Given the description of an element on the screen output the (x, y) to click on. 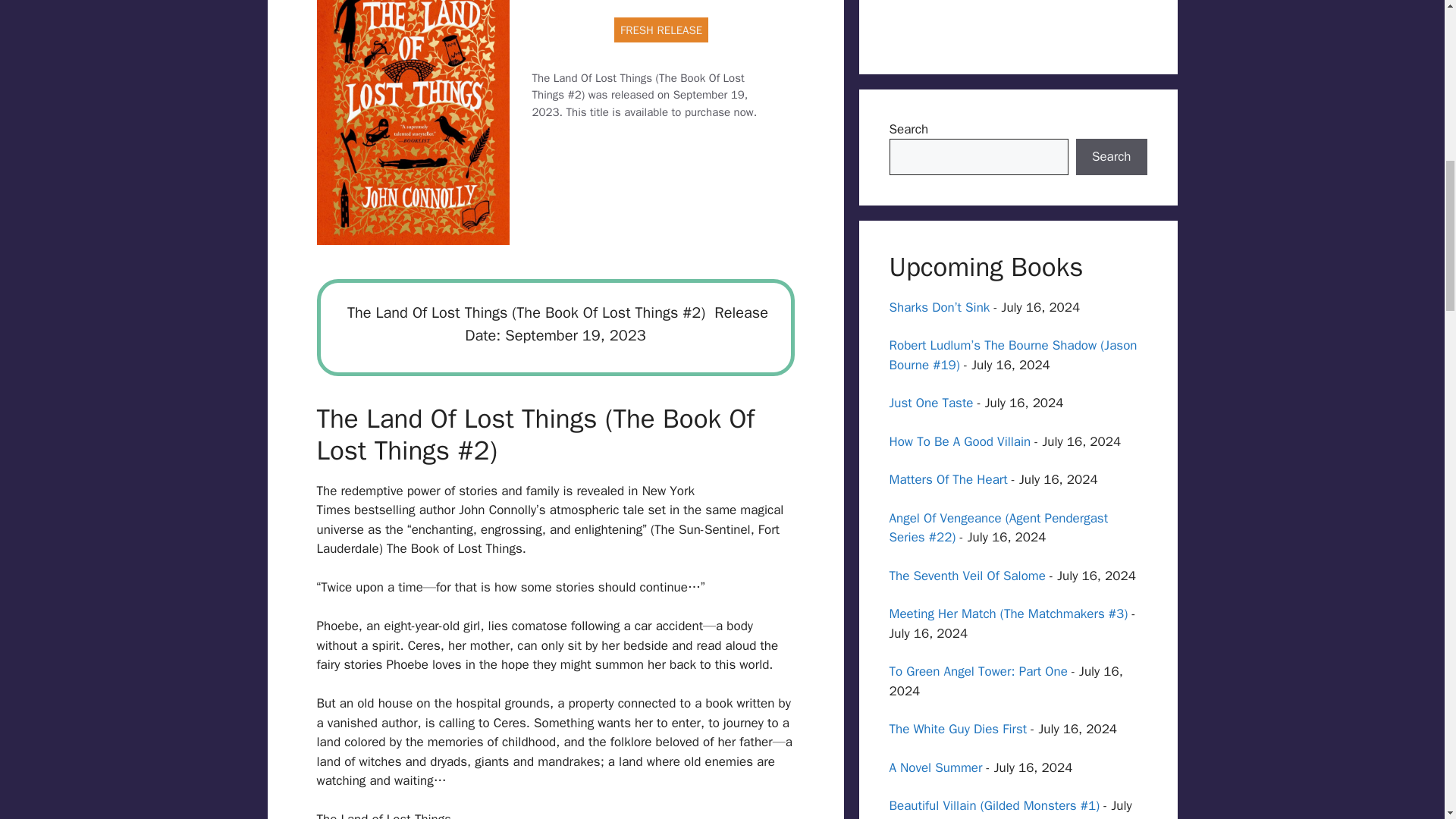
FRESH RELEASE (660, 29)
Advertisement (1017, 22)
